Given the description of an element on the screen output the (x, y) to click on. 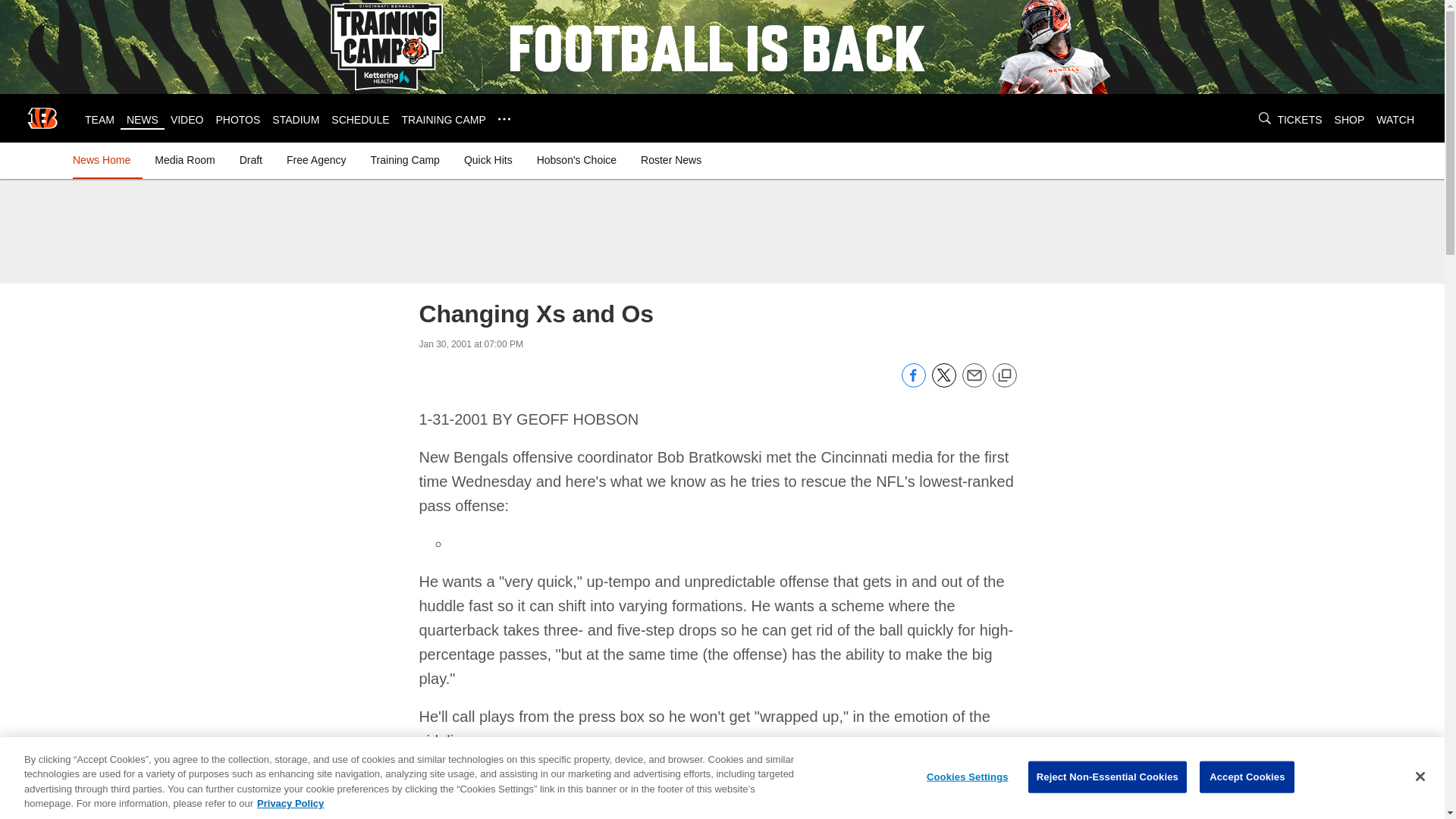
PHOTOS (237, 119)
NEWS (142, 119)
WATCH (1394, 119)
TRAINING CAMP (443, 119)
Roster News (670, 159)
TEAM (99, 119)
Media Room (184, 159)
SCHEDULE (359, 119)
Training Camp (405, 159)
Link to club's homepage (42, 117)
Free Agency (316, 159)
SCHEDULE (359, 119)
TRAINING CAMP (443, 119)
TEAM (99, 119)
Quick Hits (488, 159)
